Given the description of an element on the screen output the (x, y) to click on. 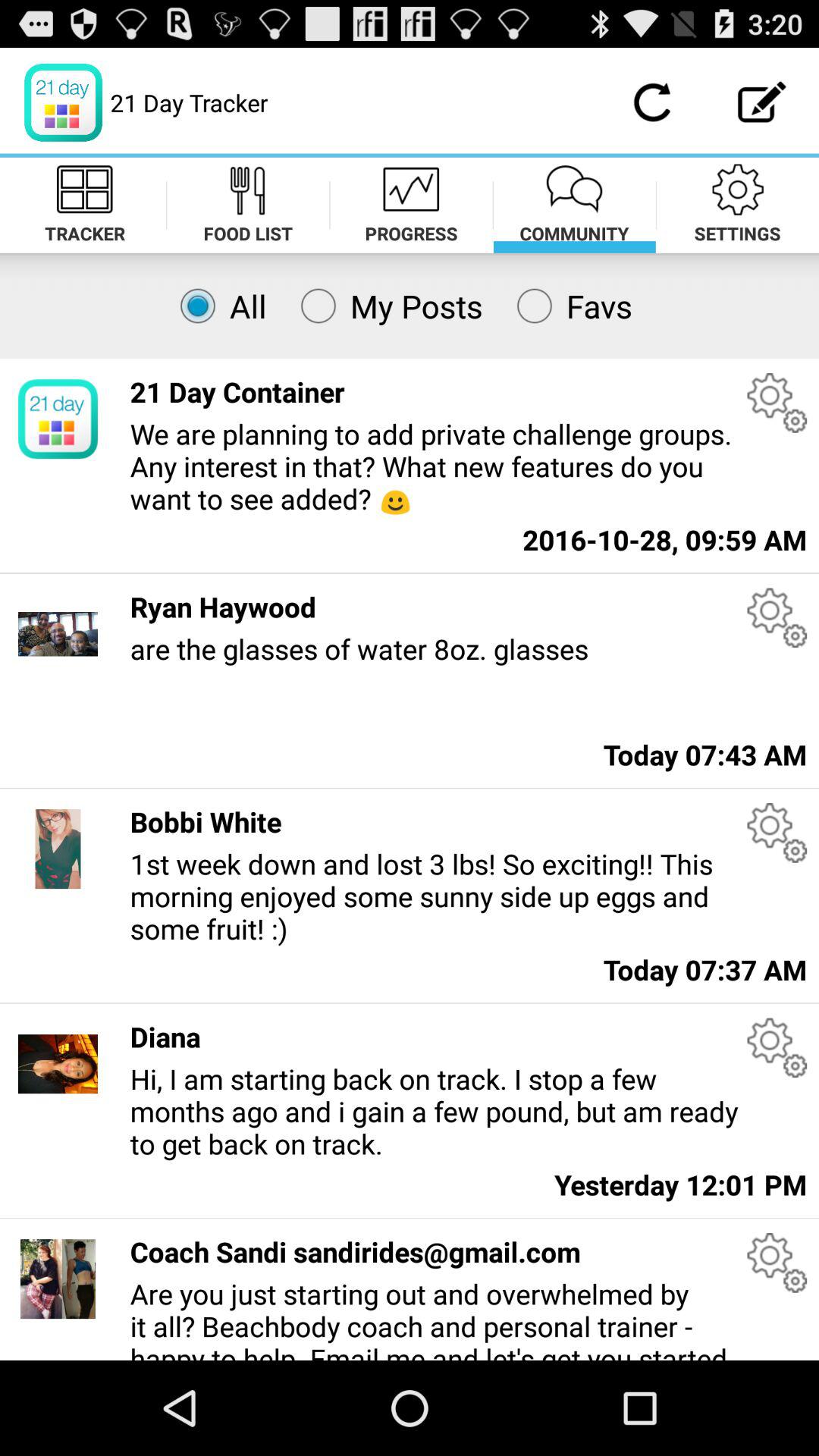
display settings about this profile (777, 1047)
